Given the description of an element on the screen output the (x, y) to click on. 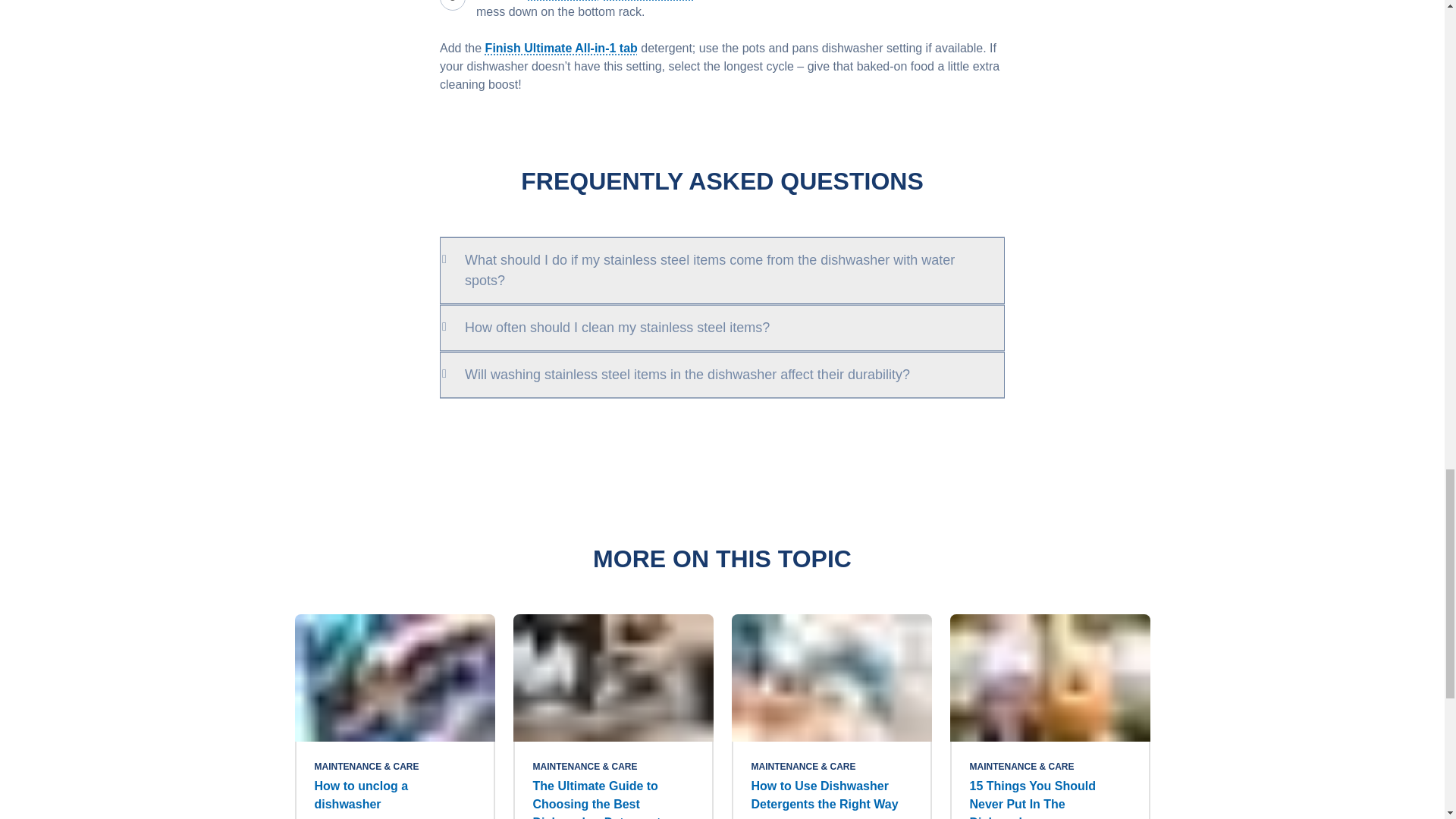
How often should I clean my stainless steel items? (721, 327)
Finish Ultimate All-in-1 tab (560, 47)
